Given the description of an element on the screen output the (x, y) to click on. 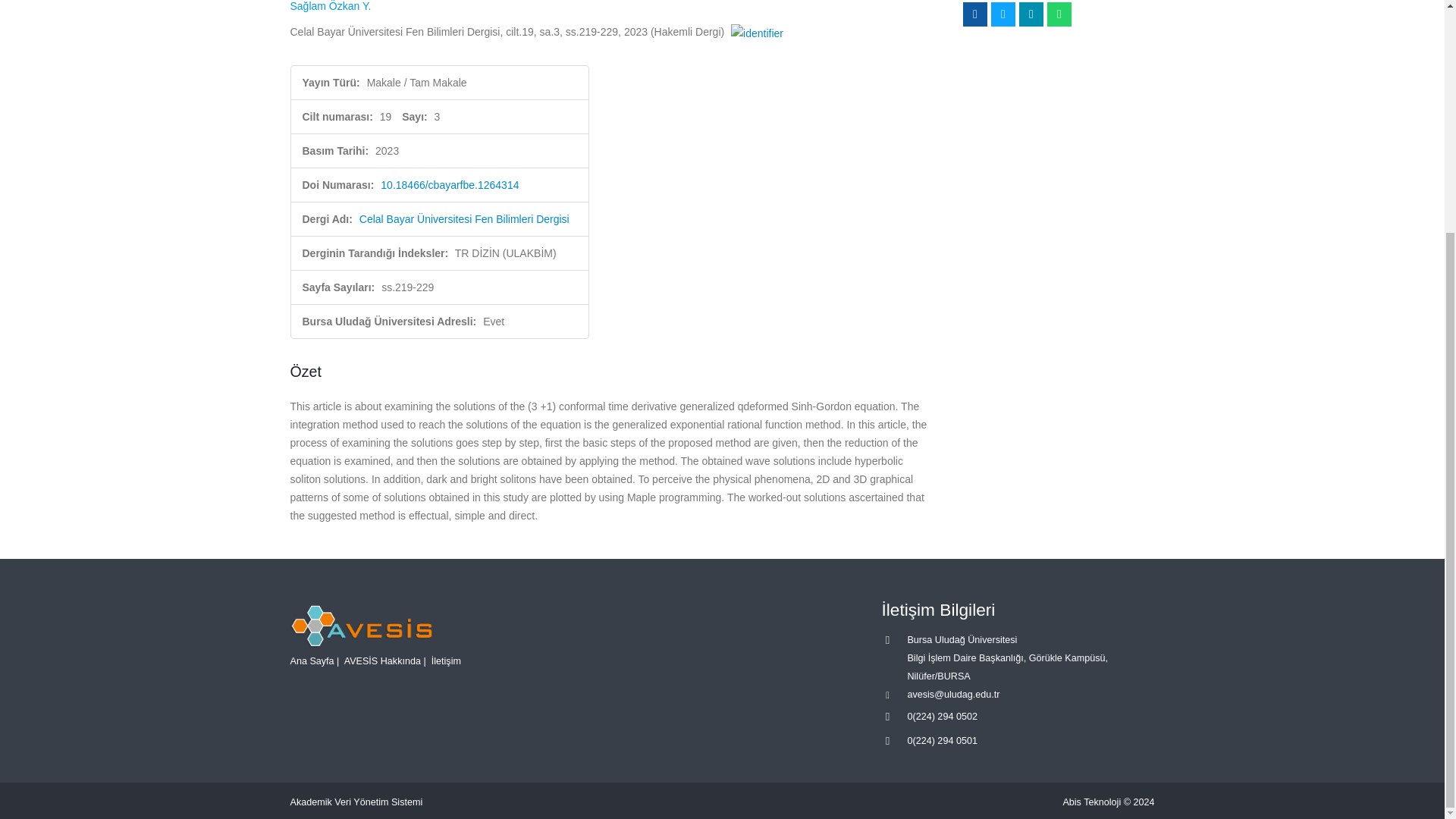
Ana Sayfa (311, 661)
Abis Teknoloji (1091, 801)
